Given the description of an element on the screen output the (x, y) to click on. 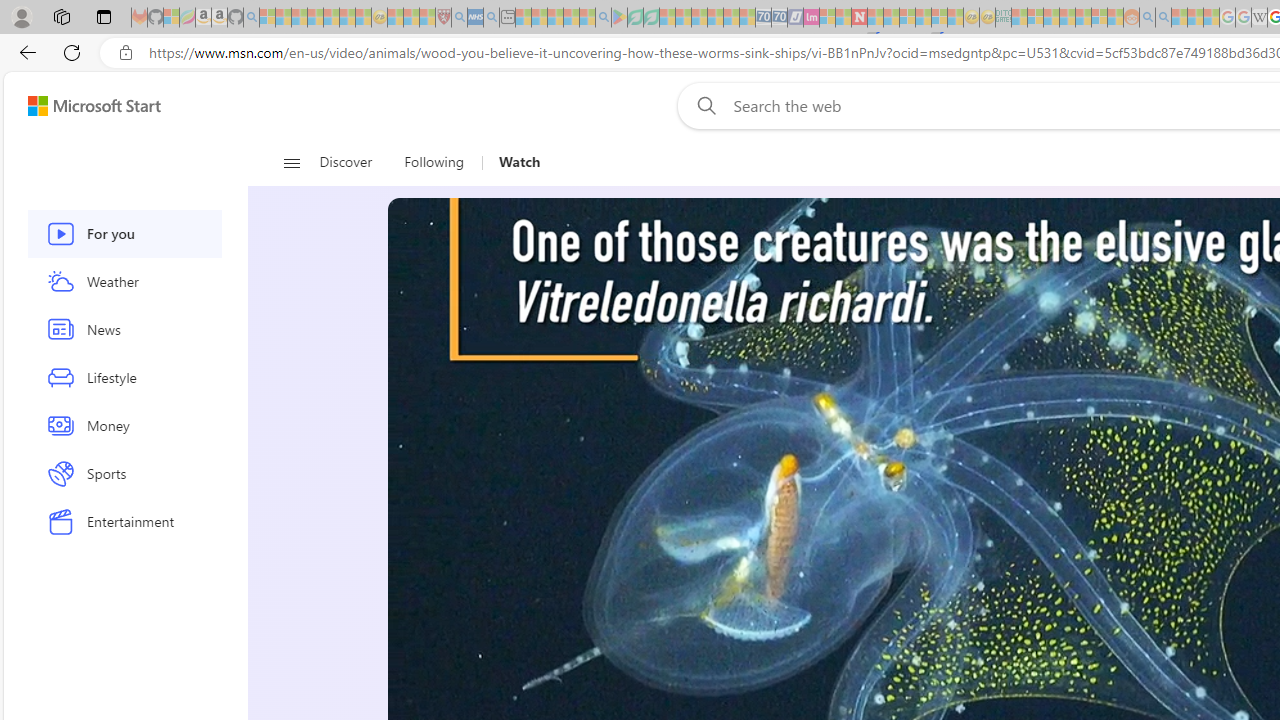
Terms of Use Agreement - Sleeping (635, 17)
Open navigation menu (291, 162)
Bluey: Let's Play! - Apps on Google Play - Sleeping (619, 17)
Watch (511, 162)
14 Common Myths Debunked By Scientific Facts - Sleeping (891, 17)
Cheap Hotels - Save70.com - Sleeping (779, 17)
DITOGAMES AG Imprint - Sleeping (1003, 17)
New Report Confirms 2023 Was Record Hot | Watch - Sleeping (331, 17)
